Given the description of an element on the screen output the (x, y) to click on. 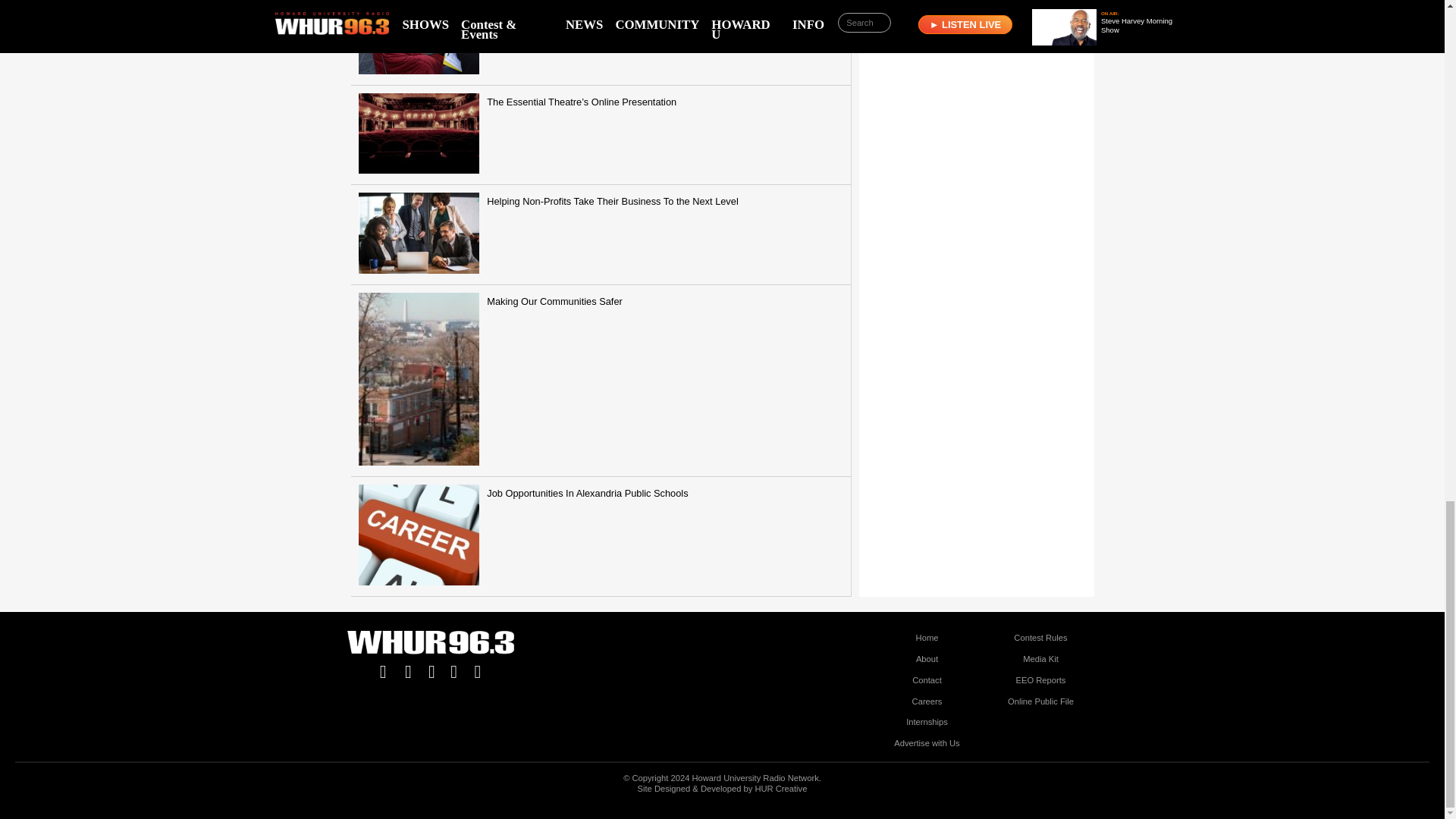
Making Our Communities Safer (600, 380)
Job Opportunities In Alexandria Public Schools (600, 536)
Providing Handmade Blankets for The Homeless (600, 42)
Helping Non-Profits Take Their Business To the Next Level (600, 234)
